Given the description of an element on the screen output the (x, y) to click on. 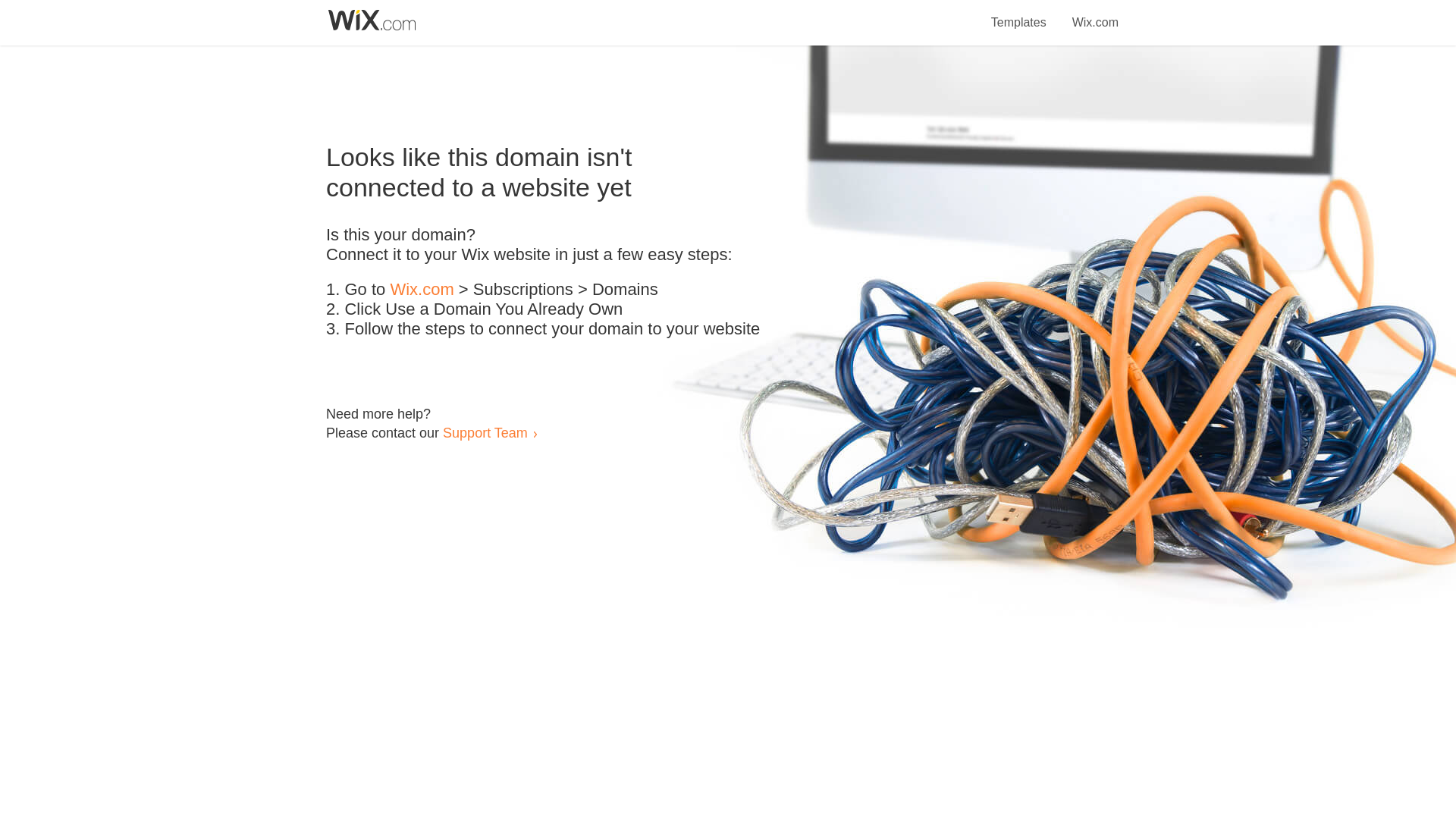
Support Team (484, 432)
Templates (1018, 14)
Wix.com (421, 289)
Wix.com (1095, 14)
